Given the description of an element on the screen output the (x, y) to click on. 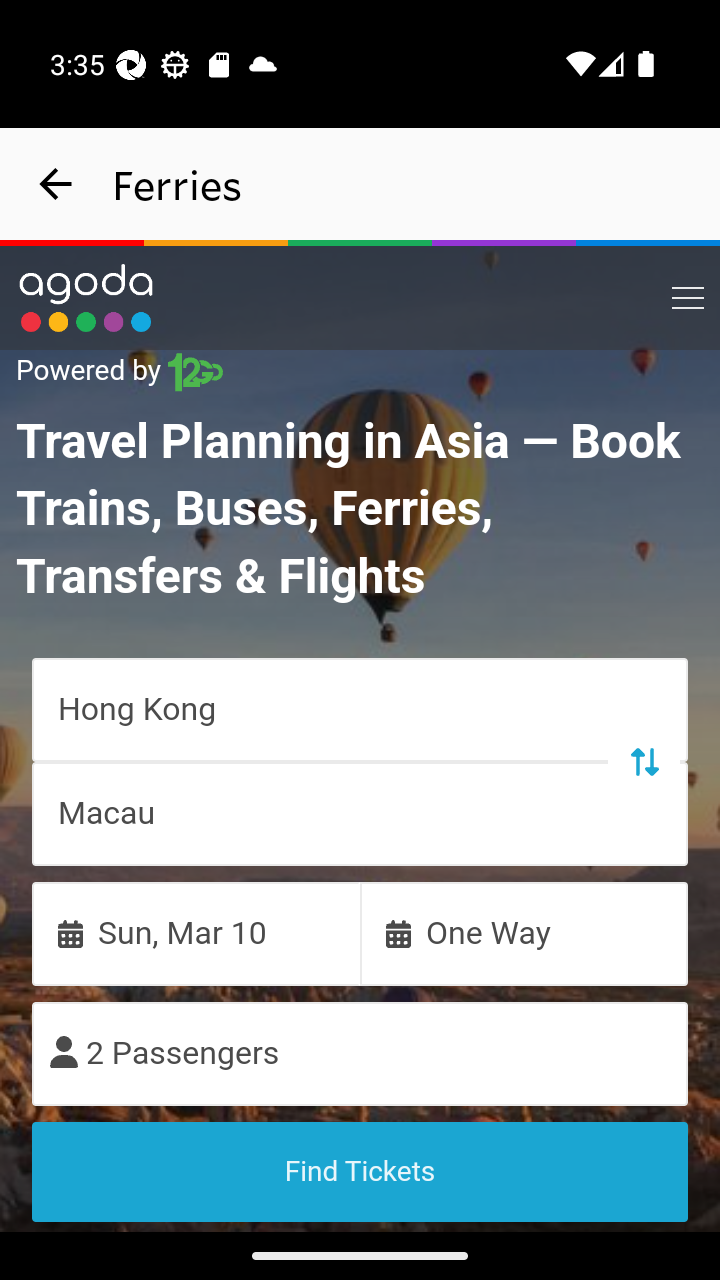
navigation_button (56, 184)
Link to main page 5418 (86, 298)
Hong Kong Swap trip points (359, 708)
Swap trip points (643, 760)
Macau (359, 813)
Sun, Mar 10 (195, 932)
One Way (524, 932)
 2 Passengers (359, 1052)
Find Tickets (359, 1171)
